Given the description of an element on the screen output the (x, y) to click on. 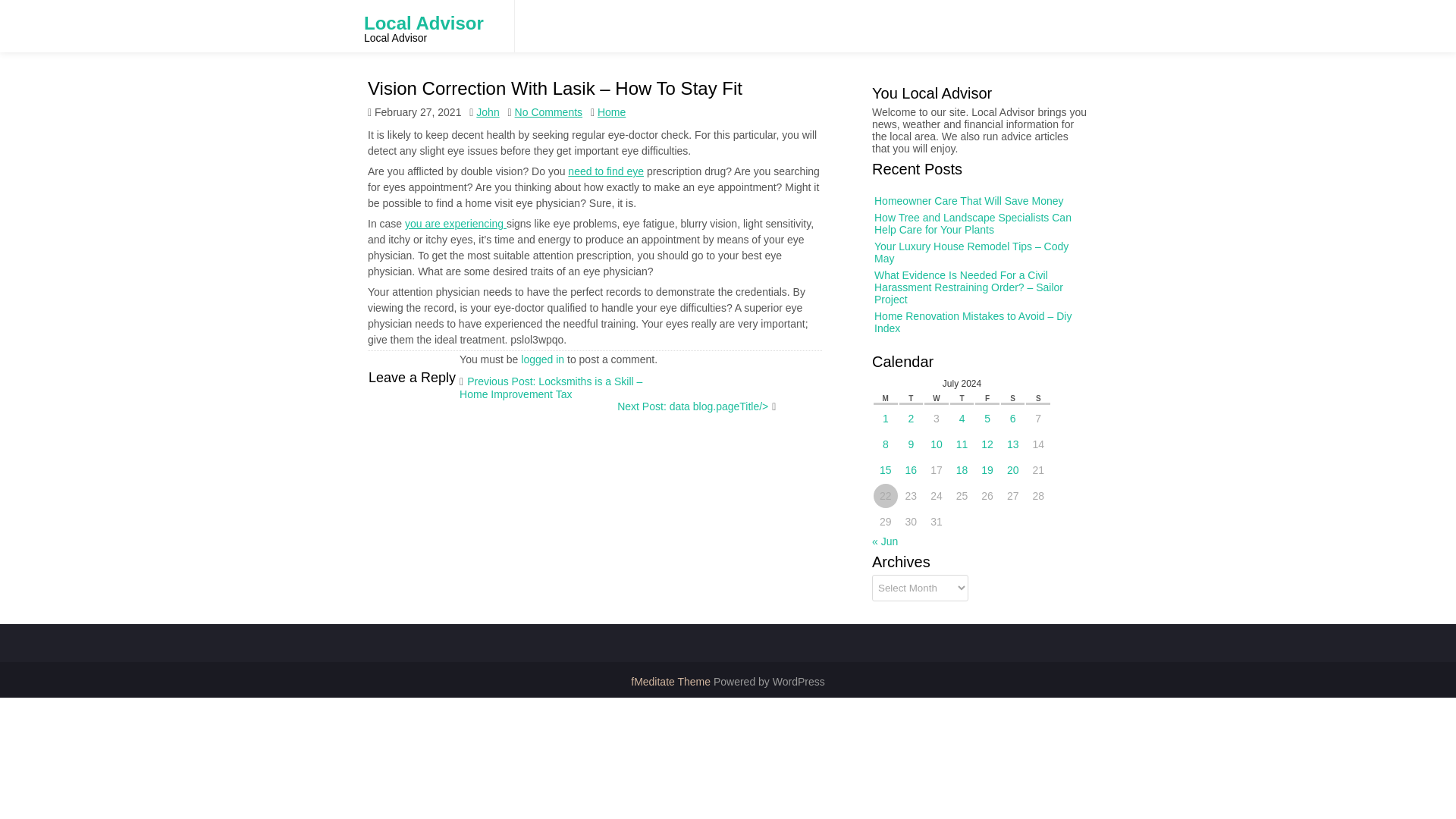
Homeowner Care That Will Save Money (1029, 283)
Home (611, 111)
Sunday (1034, 394)
Tuesday (922, 391)
2 (944, 384)
1 (933, 382)
8 (924, 404)
Saturday (1010, 394)
Posts by John (487, 90)
20 (1005, 440)
No Comments (548, 111)
18 (968, 435)
4 (971, 386)
5 (985, 387)
fMeditate Theme (671, 681)
